Given the description of an element on the screen output the (x, y) to click on. 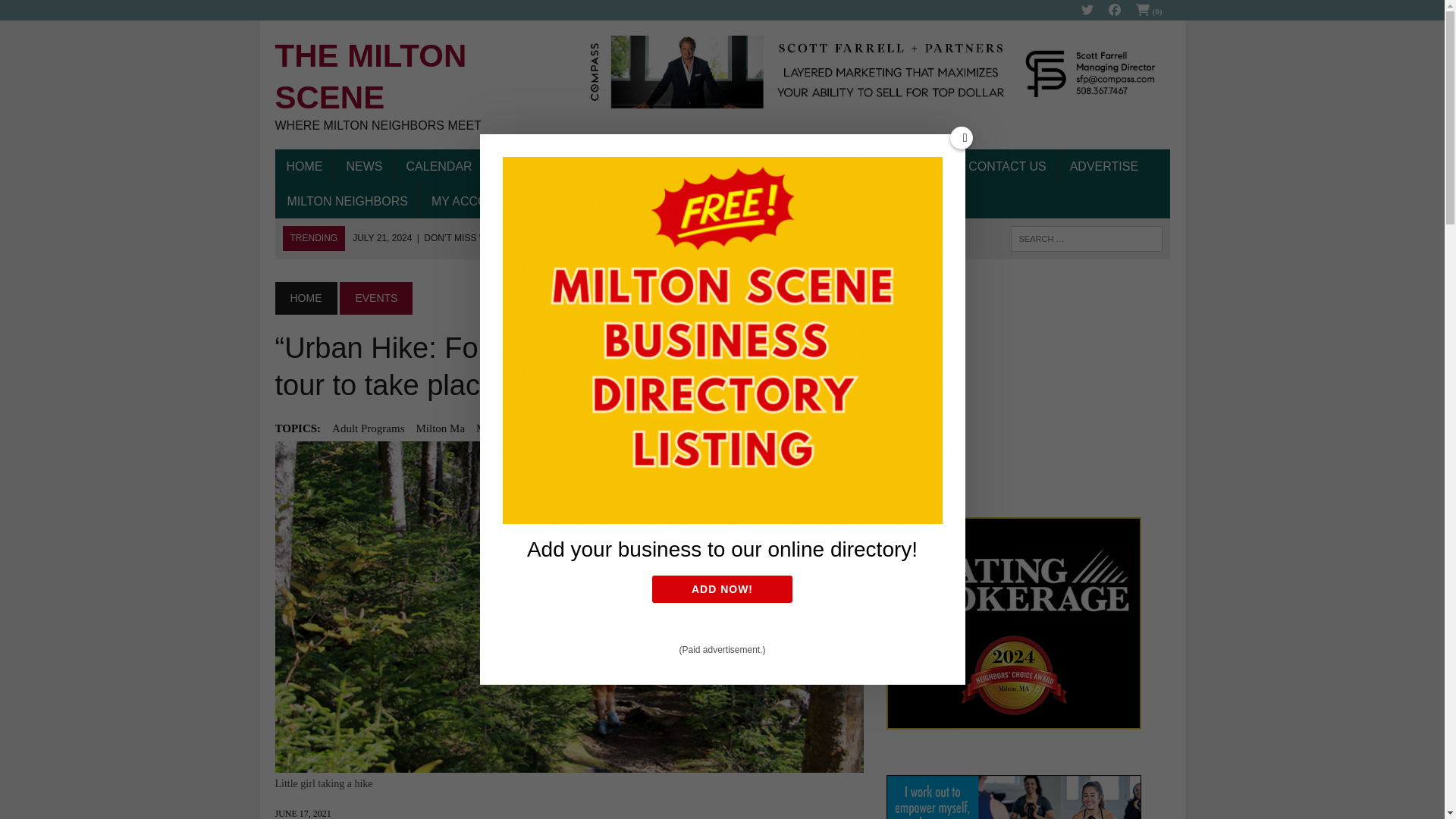
View your shopping cart (1149, 10)
NEWS (364, 166)
CALENDAR (438, 166)
MILTON RESOURCES (416, 85)
BUSINESS DIRECTORY (717, 166)
HOME (563, 166)
The Milton Scene (304, 166)
